Given the description of an element on the screen output the (x, y) to click on. 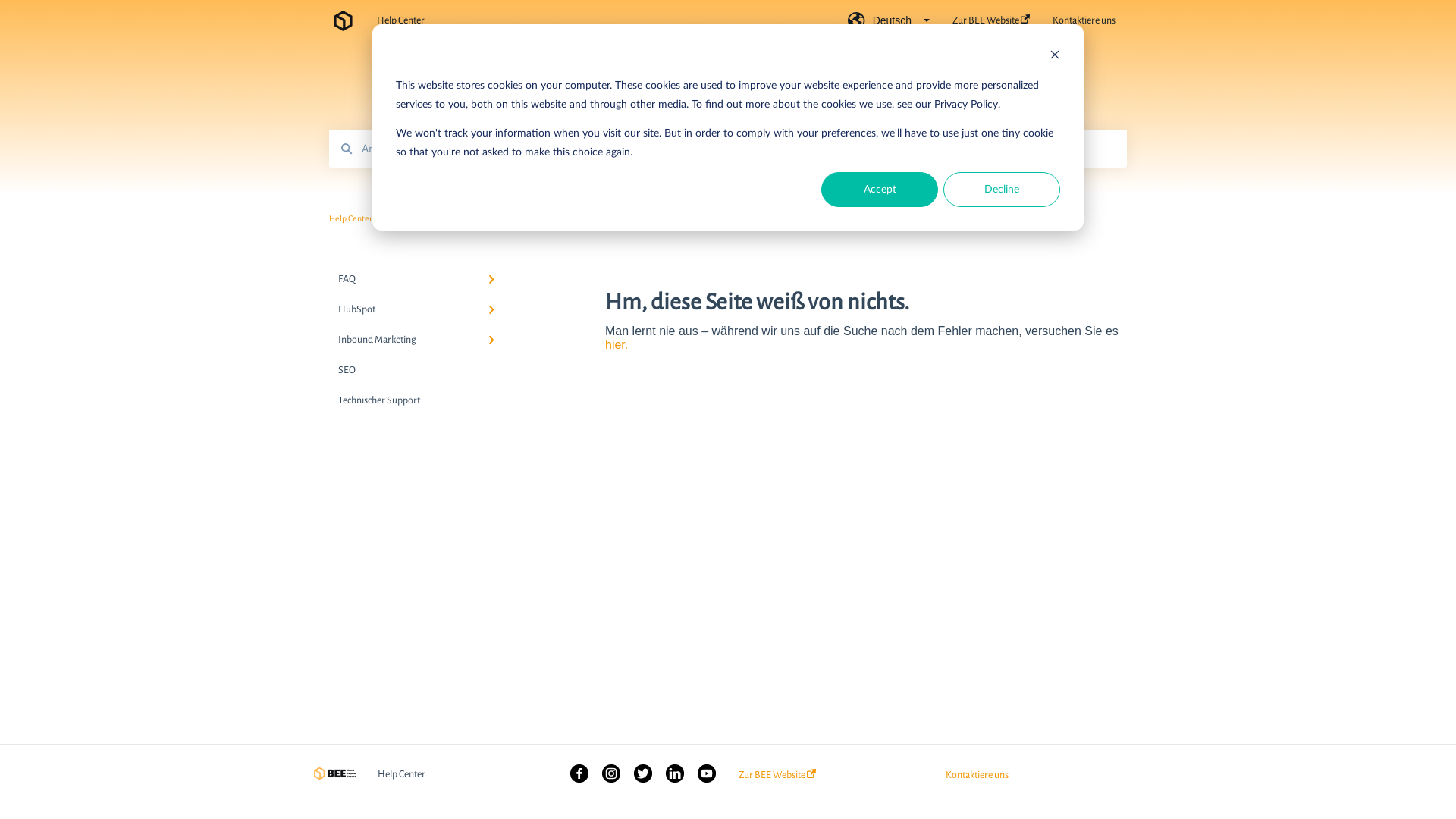
Inbound Marketing Element type: text (420, 339)
FAQ Element type: text (420, 278)
hier. Element type: text (616, 344)
Help Center Element type: text (589, 20)
Help Center Element type: text (350, 218)
SEO Element type: text (420, 369)
Kontaktiere uns Element type: text (976, 774)
Zur BEE Website Element type: text (776, 774)
Technischer Support Element type: text (420, 400)
Decline Element type: text (1001, 189)
HubSpot Element type: text (420, 309)
Accept Element type: text (879, 189)
